Given the description of an element on the screen output the (x, y) to click on. 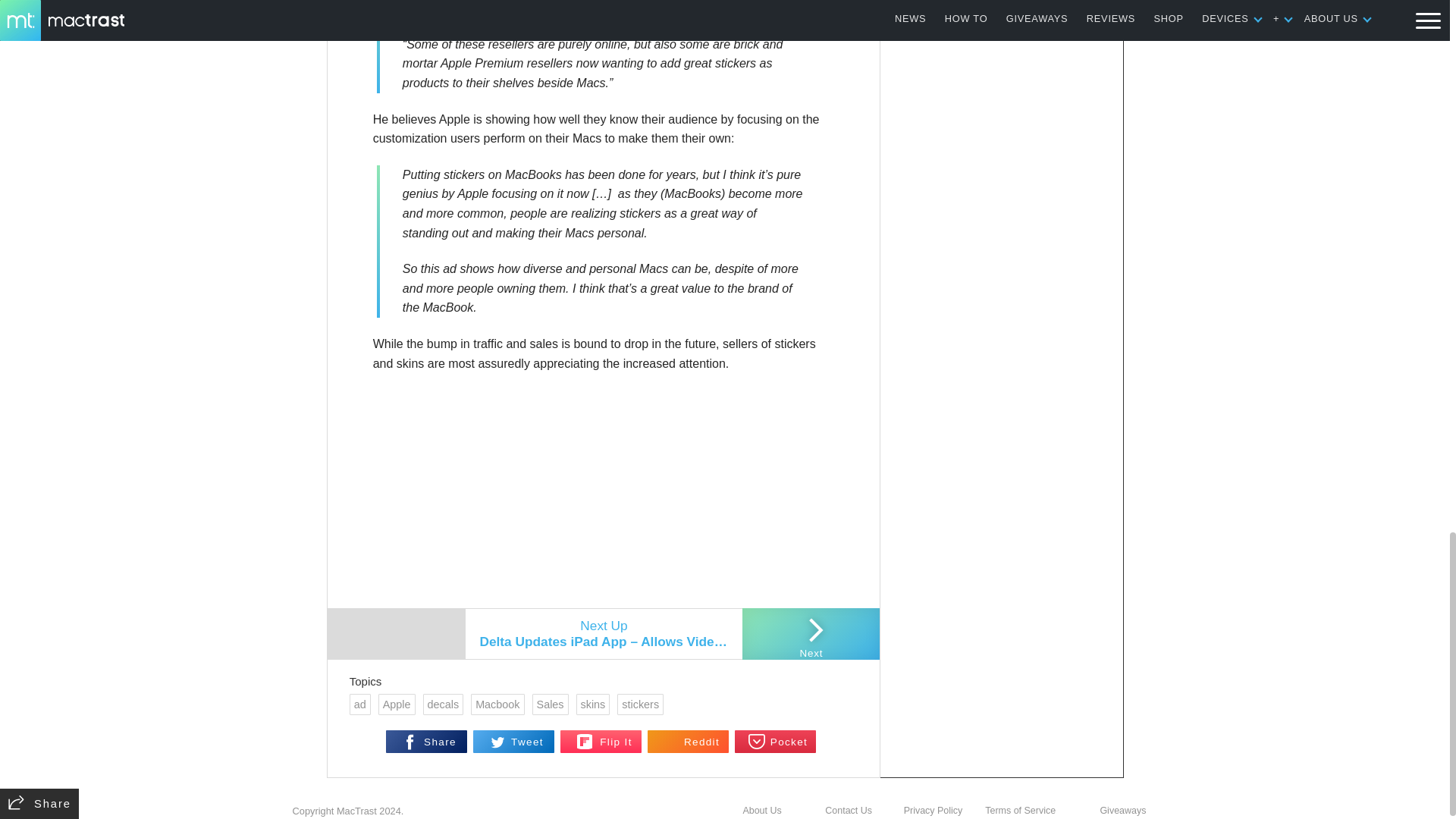
Share on Reddit (688, 741)
Tweet (513, 741)
Share on Facebook (426, 741)
